Given the description of an element on the screen output the (x, y) to click on. 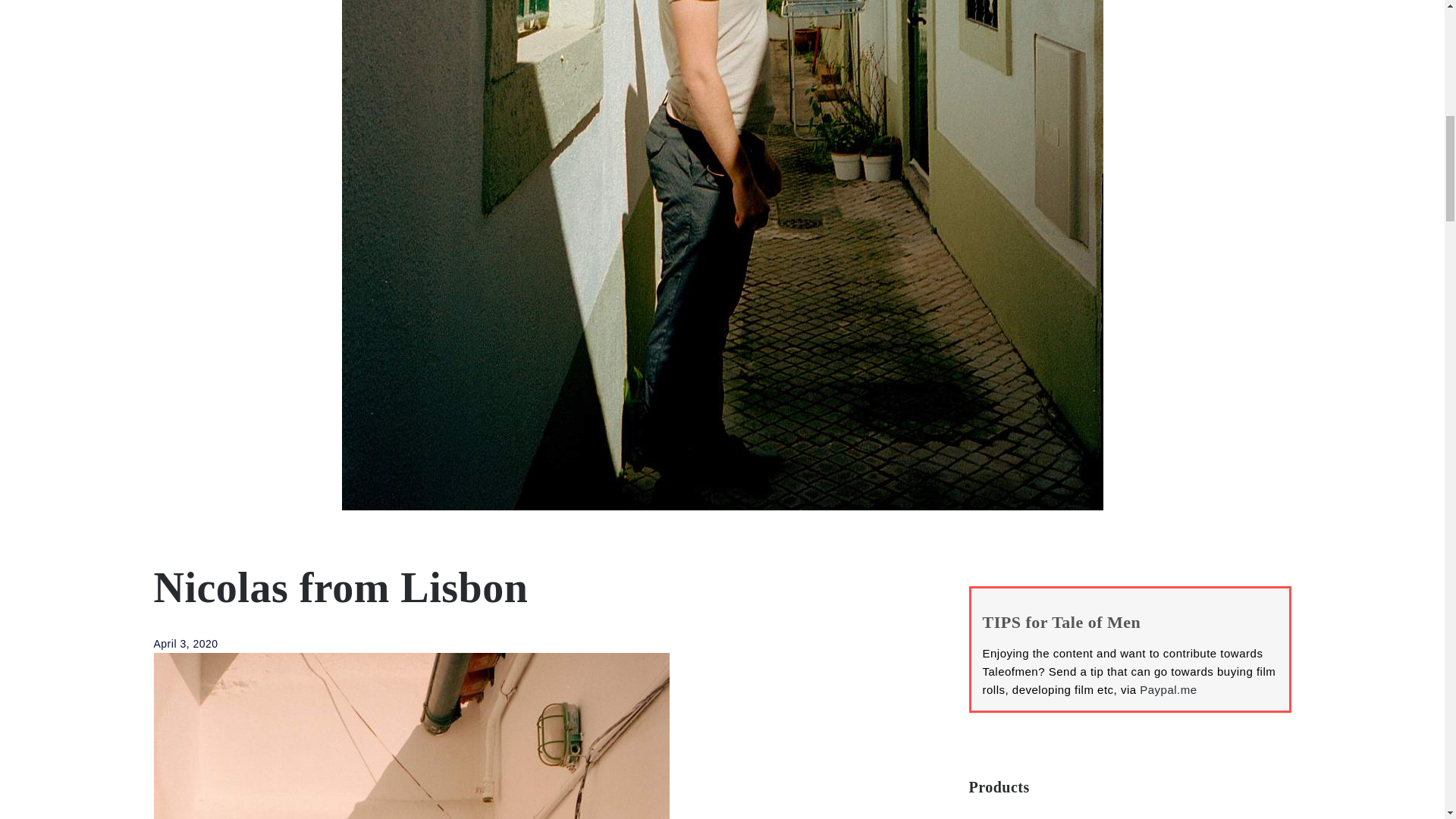
April 3, 2020 (184, 644)
Paypal.me (1168, 689)
